Given the description of an element on the screen output the (x, y) to click on. 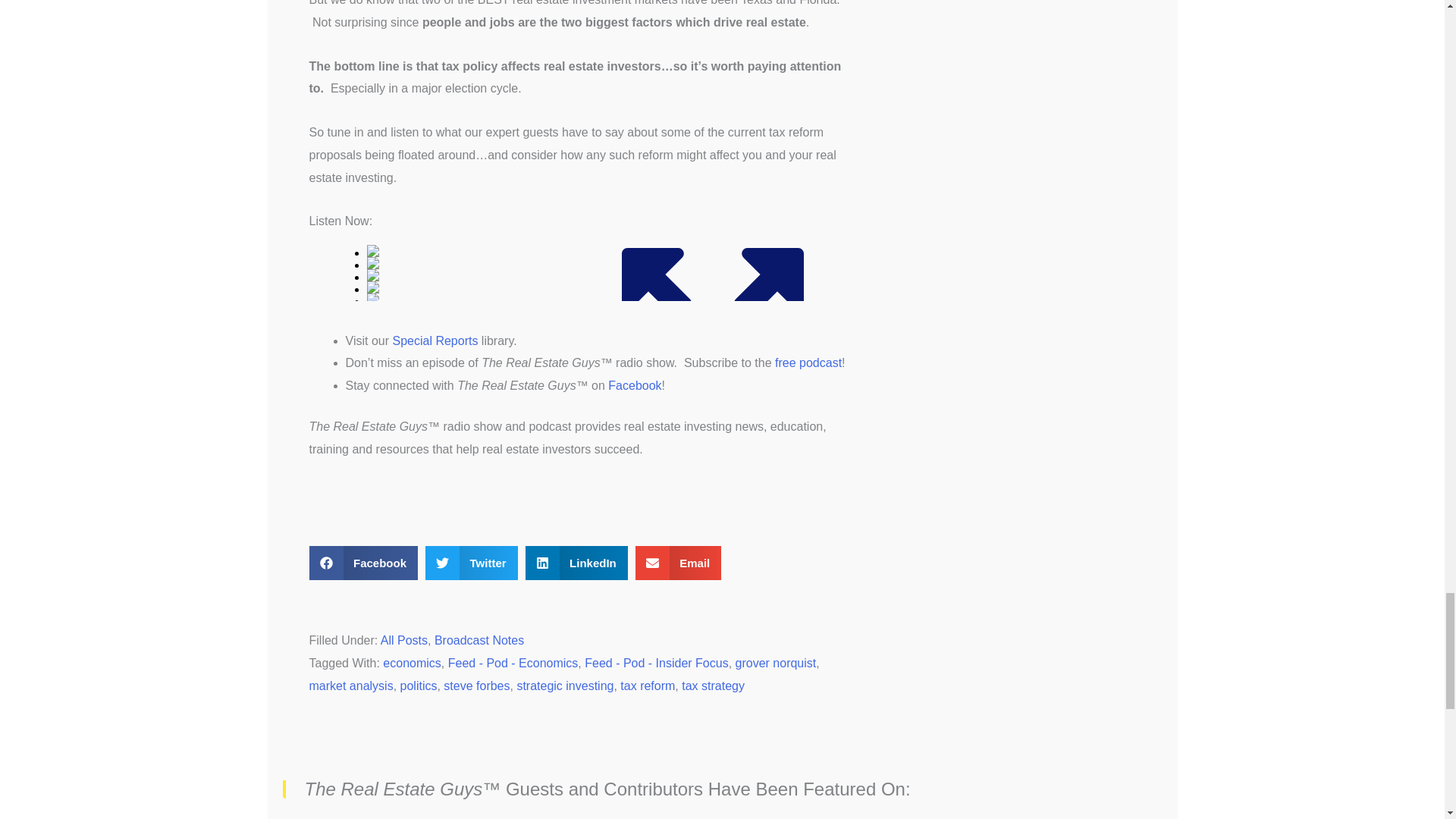
Subscribe to The Real Estate Guys free podcast (807, 362)
Connect with The Real Estate Guys on Facebook (634, 385)
